Given the description of an element on the screen output the (x, y) to click on. 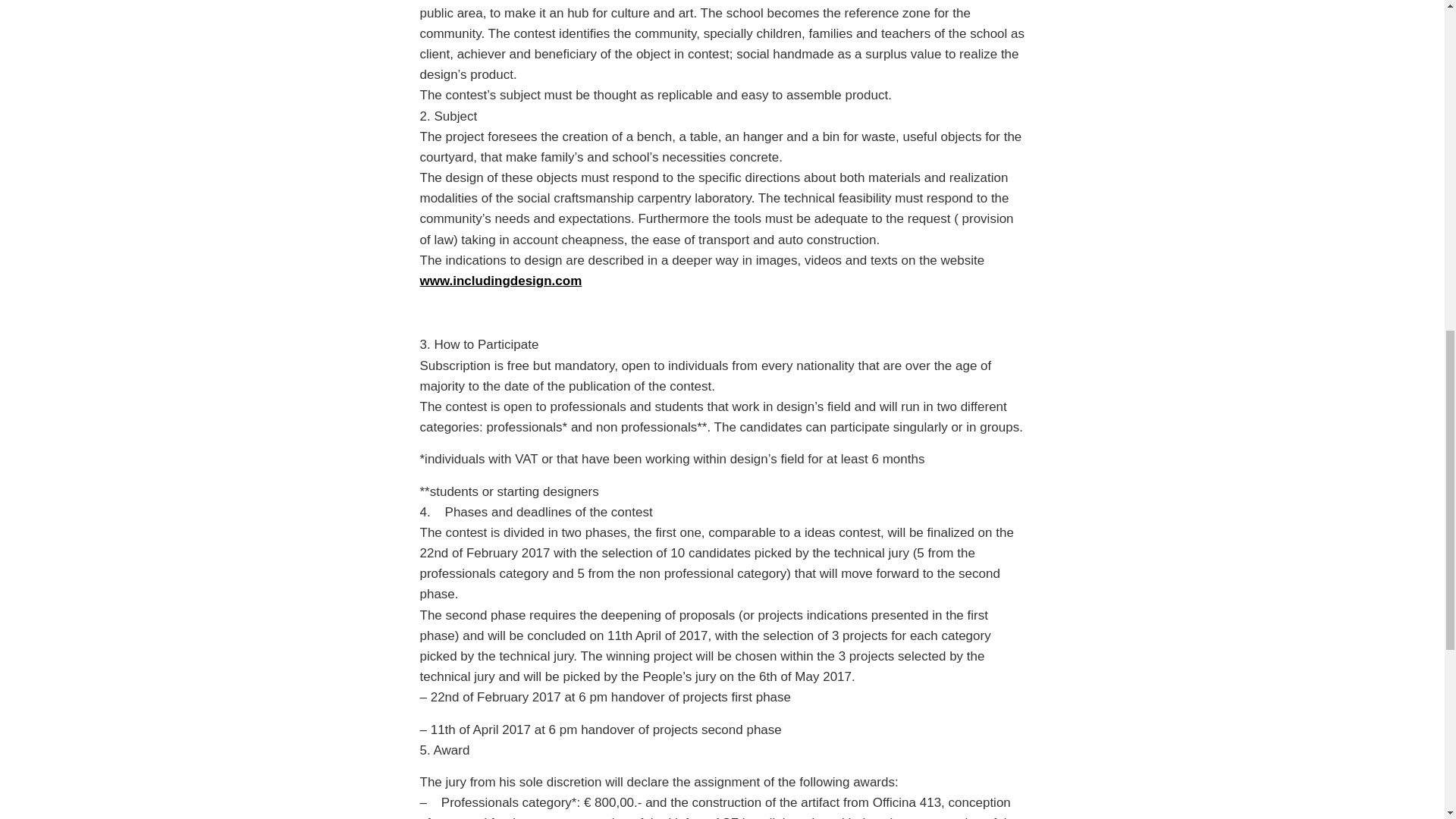
www.includingdesign.com (501, 280)
